Given the description of an element on the screen output the (x, y) to click on. 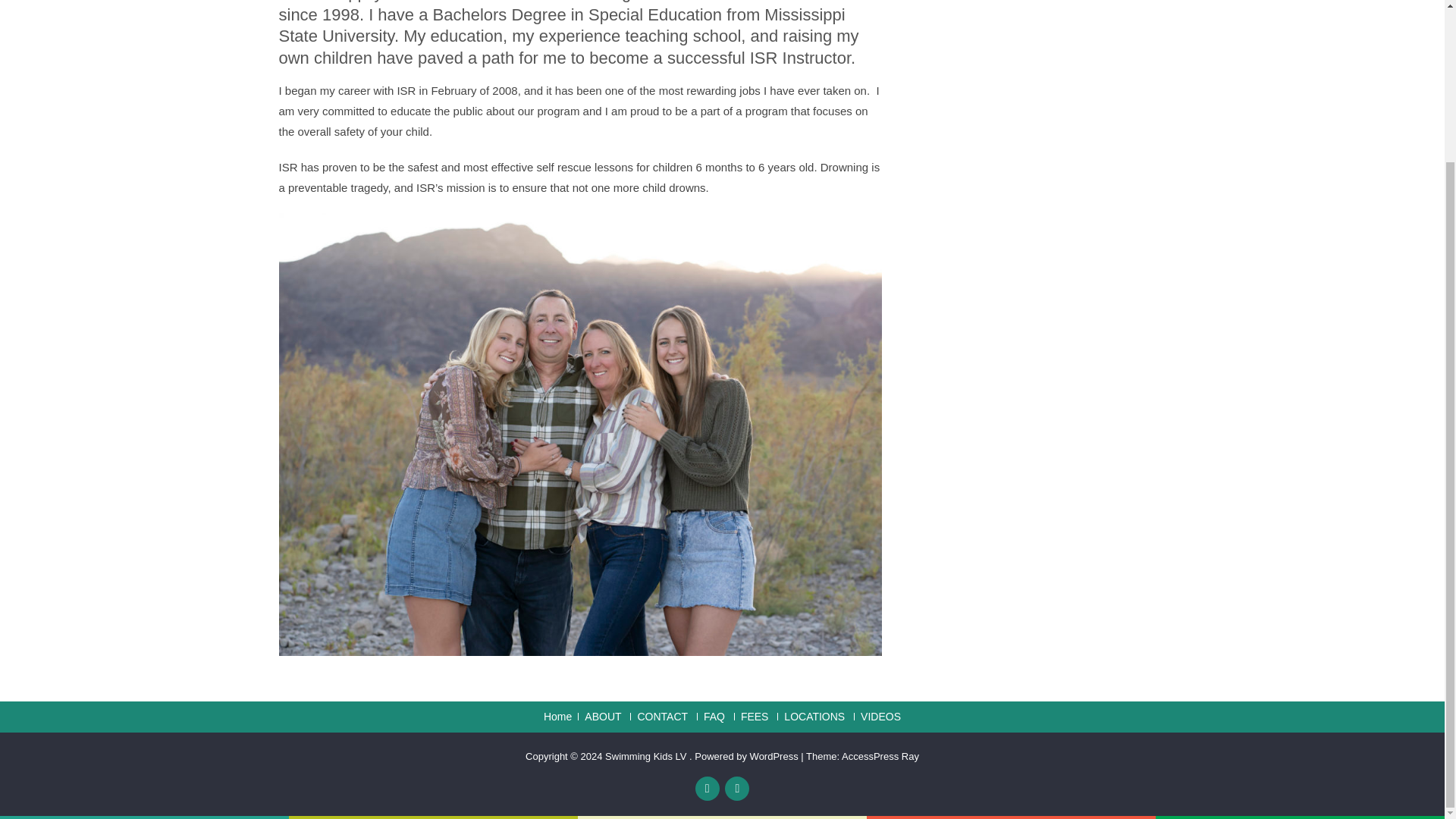
Linkedin (737, 788)
Powered by WordPress (745, 756)
CONTACT (658, 716)
VIDEOS (877, 716)
Facebook (707, 788)
AccessPress Ray (879, 756)
Swimming Kids LV (646, 756)
ABOUT (599, 716)
Home (557, 716)
FAQ (711, 716)
